Given the description of an element on the screen output the (x, y) to click on. 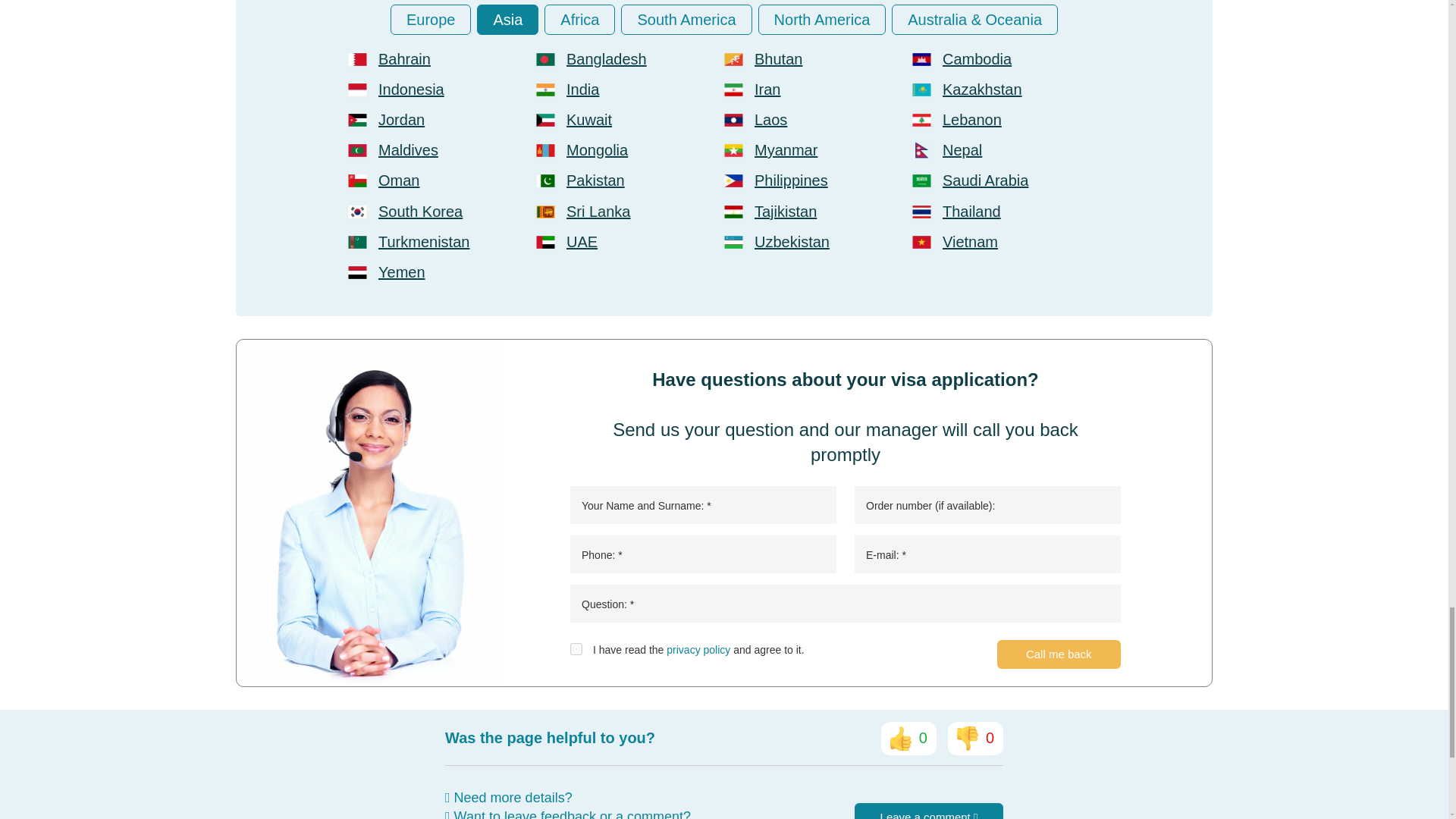
on (576, 648)
